Given the description of an element on the screen output the (x, y) to click on. 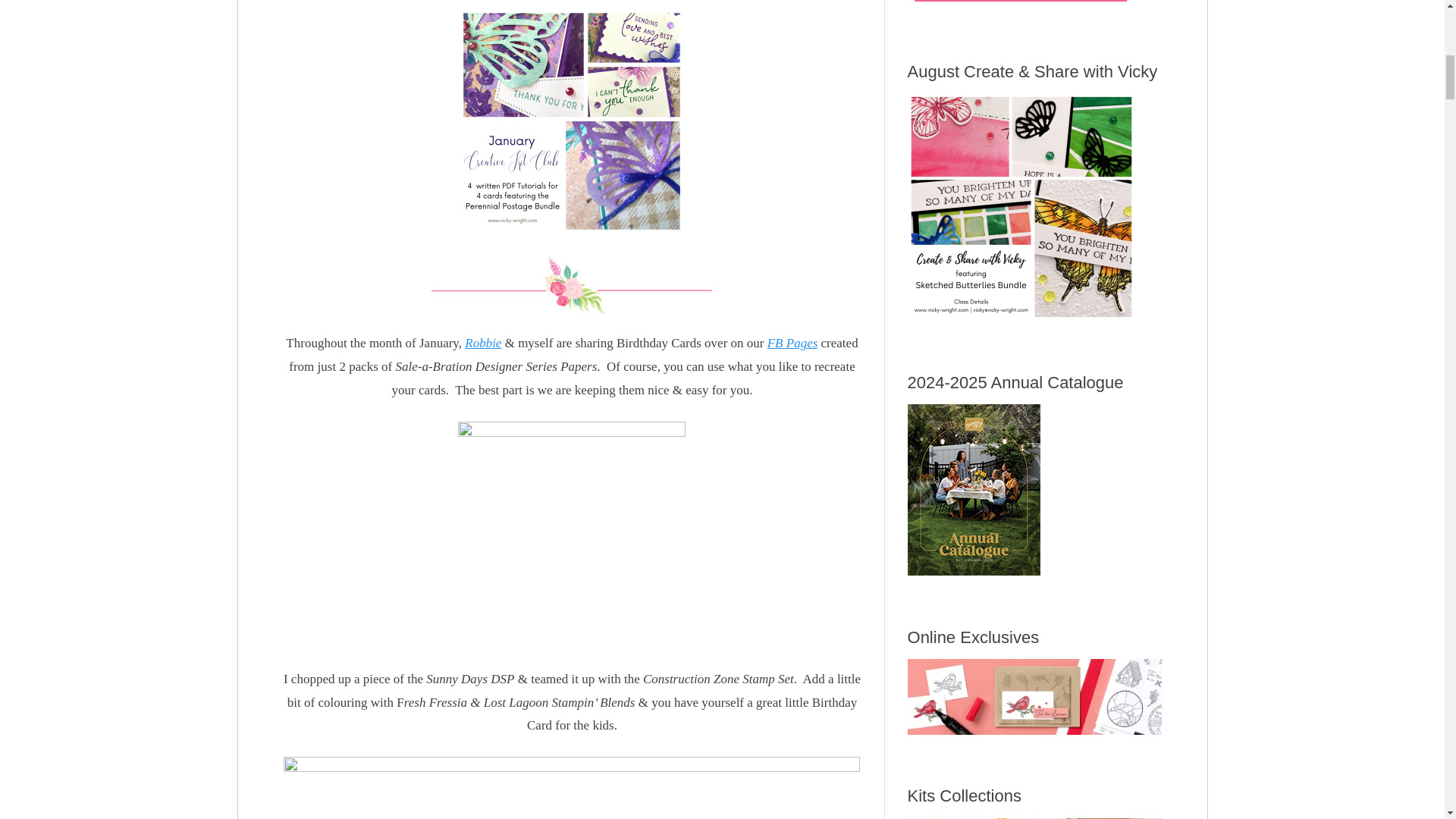
Shop Online with Current Host Code (1021, 4)
Robbie (482, 342)
FB Pages (792, 342)
